Given the description of an element on the screen output the (x, y) to click on. 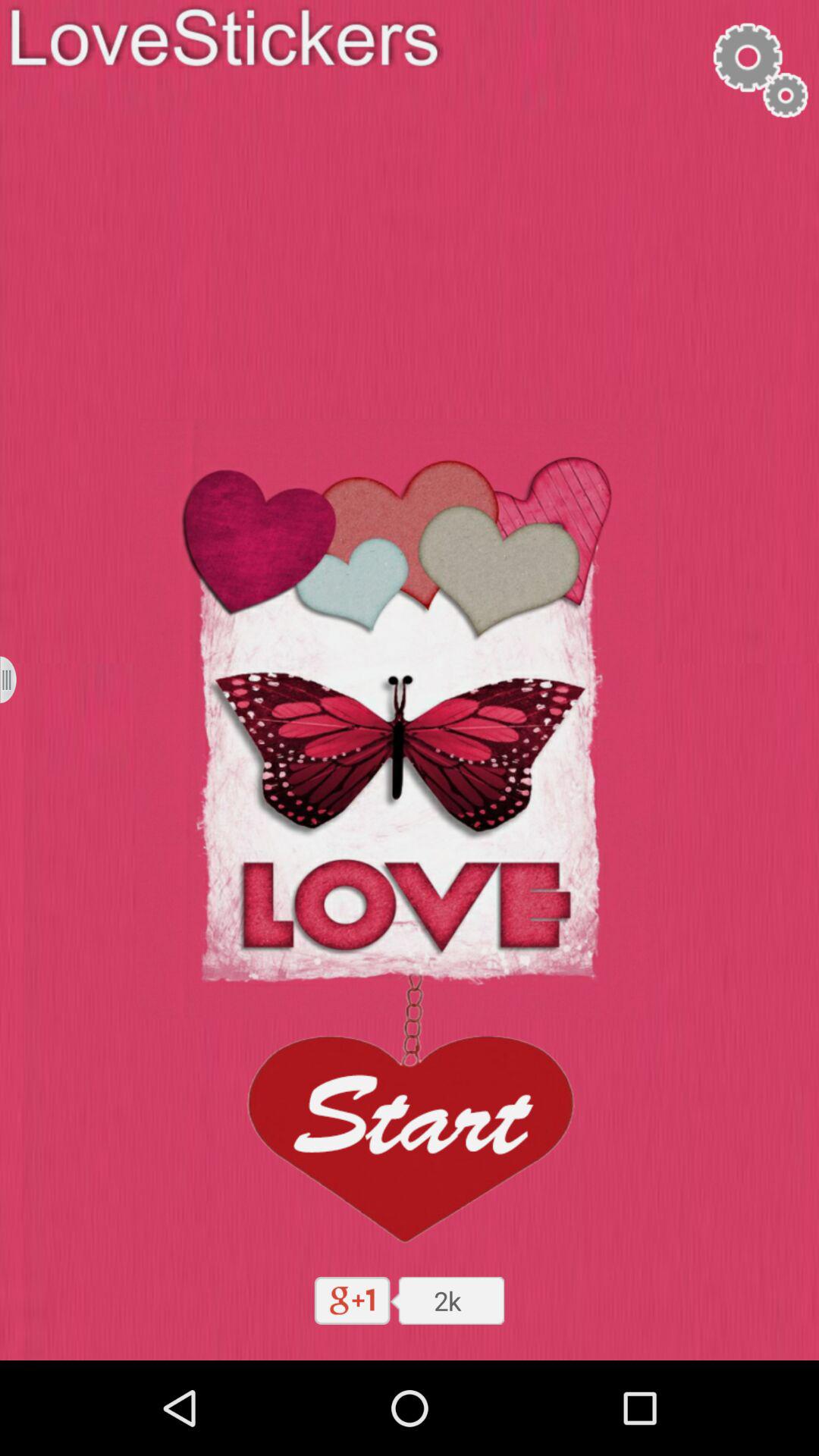
start pattn (409, 1113)
